Given the description of an element on the screen output the (x, y) to click on. 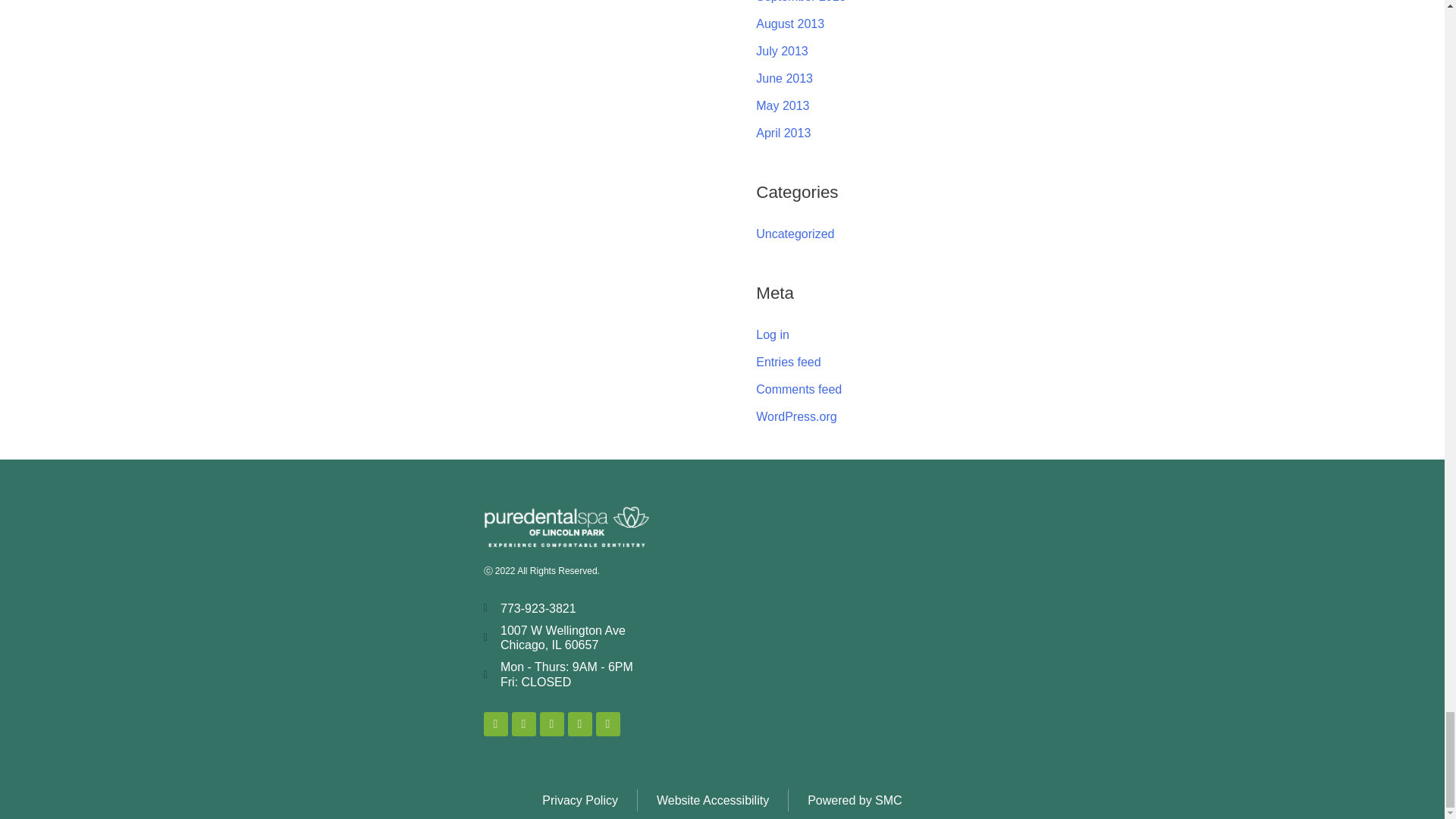
Pure Dental Spa Lincoln Park Chicago, IL (845, 620)
